Given the description of an element on the screen output the (x, y) to click on. 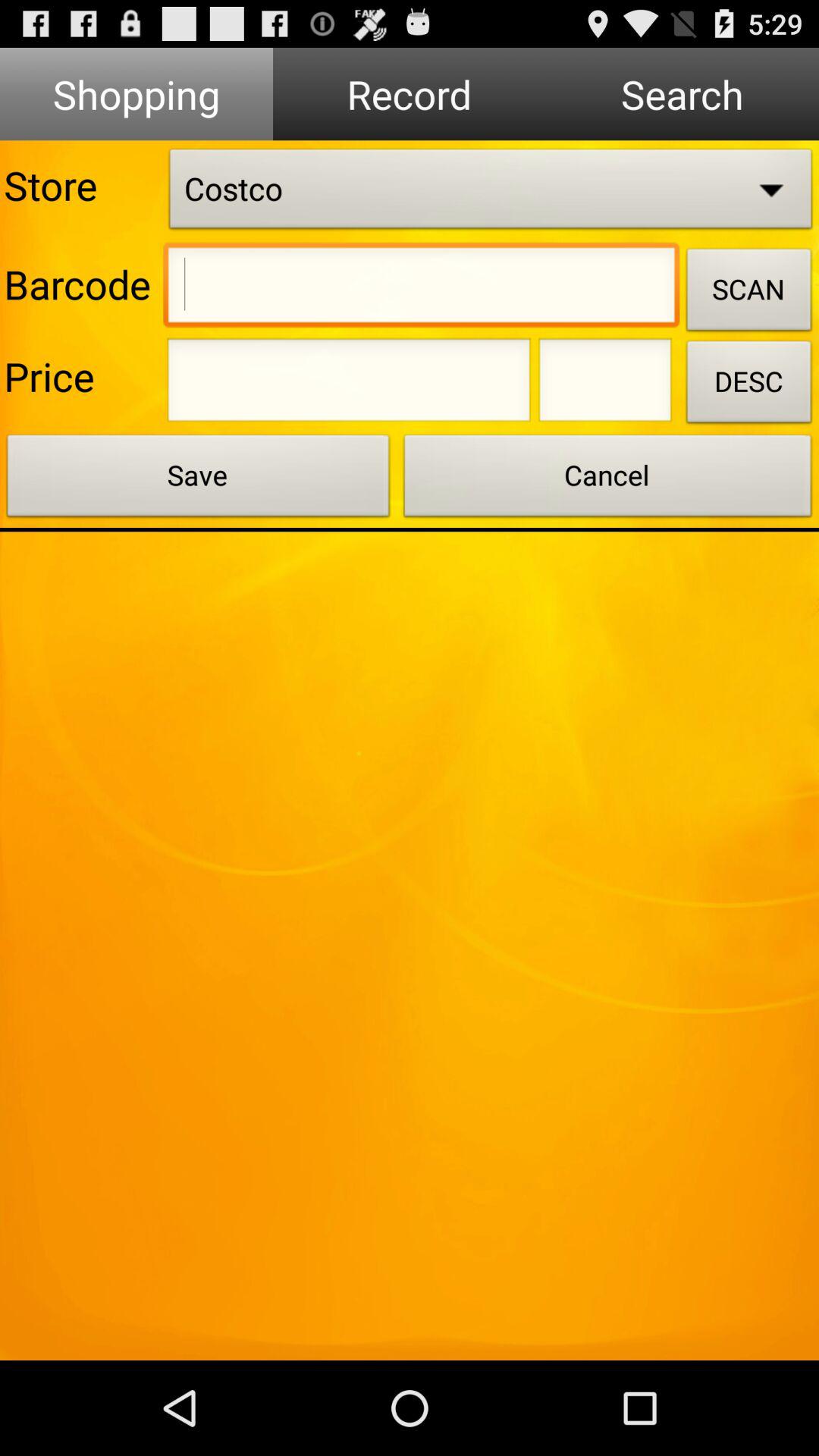
press empty space next to barcode (421, 288)
